Given the description of an element on the screen output the (x, y) to click on. 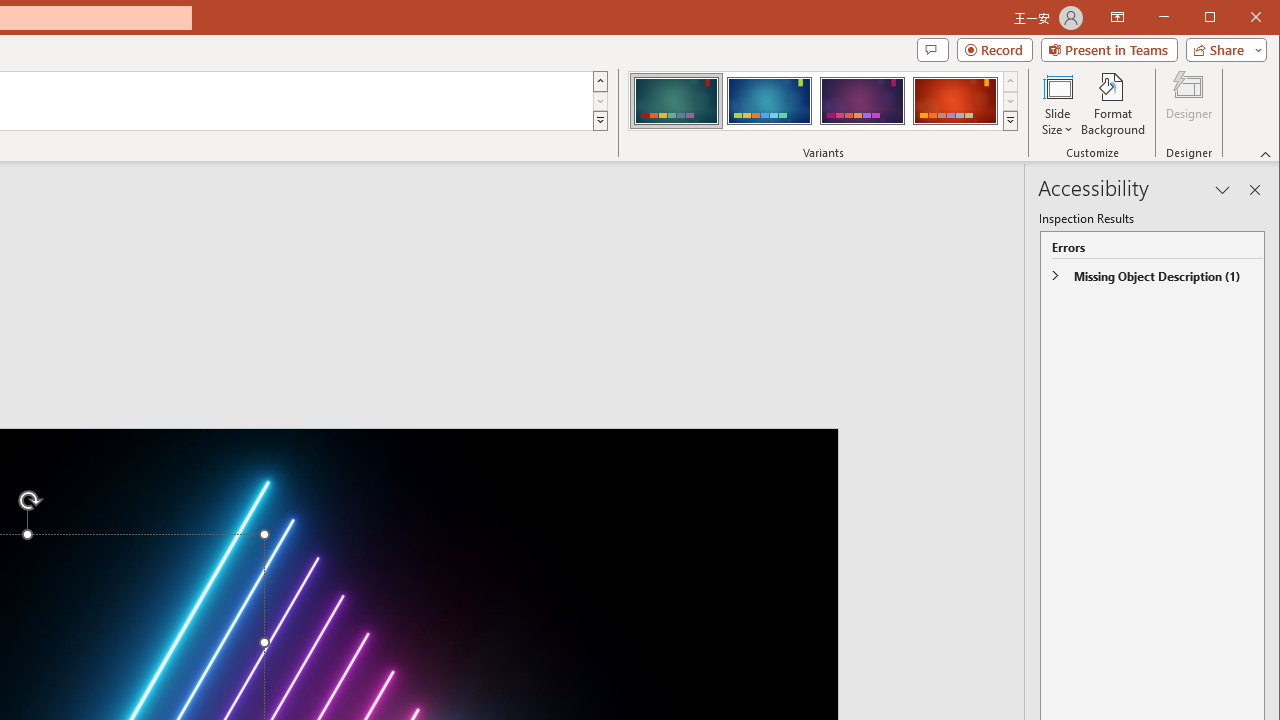
AutomationID: ThemeVariantsGallery (824, 101)
Ion Variant 3 (862, 100)
Variants (1010, 120)
Ion Variant 2 (769, 100)
Ion Variant 1 (676, 100)
